Given the description of an element on the screen output the (x, y) to click on. 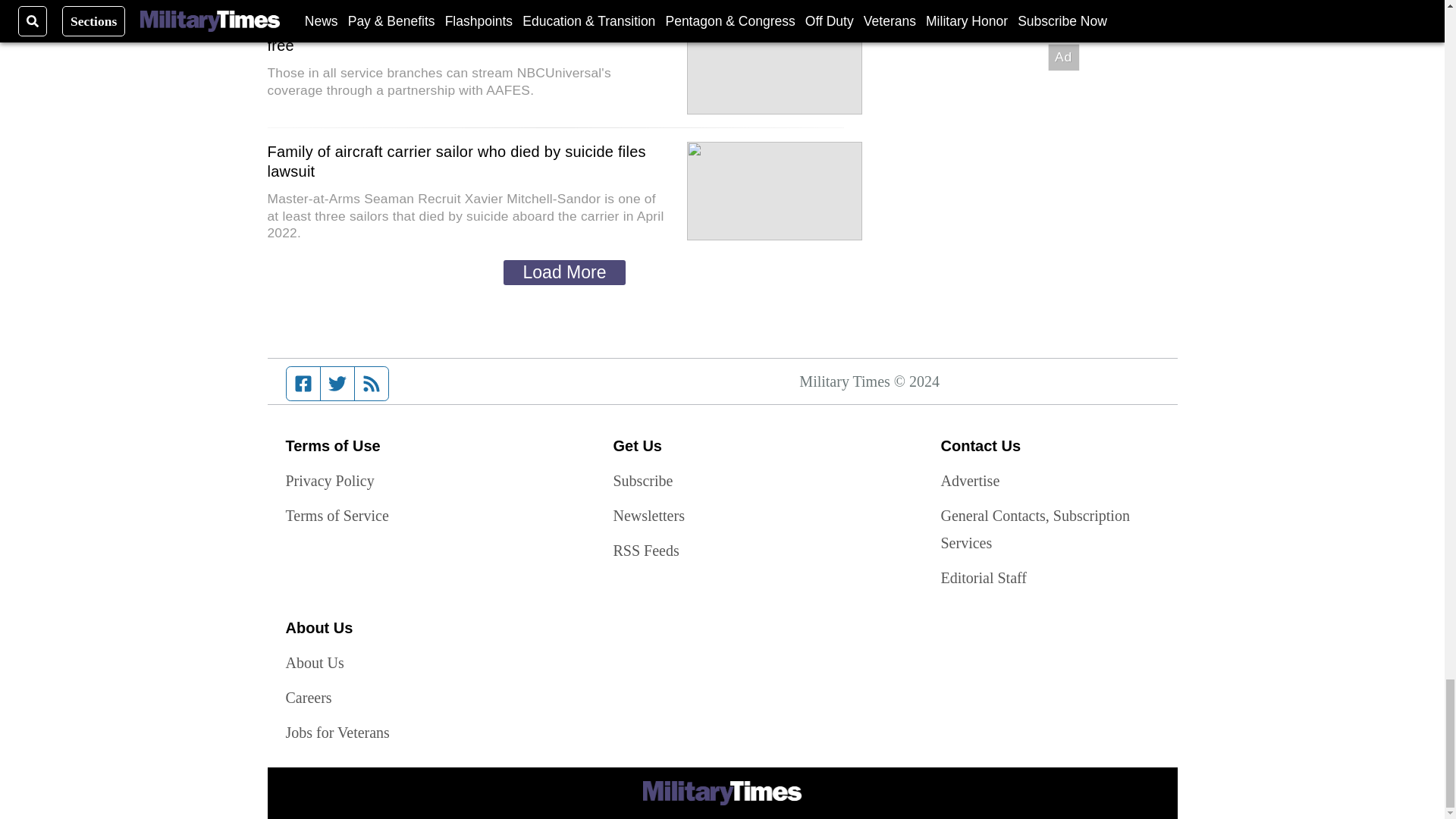
Twitter feed (336, 383)
RSS feed (371, 383)
Facebook page (303, 383)
